Given the description of an element on the screen output the (x, y) to click on. 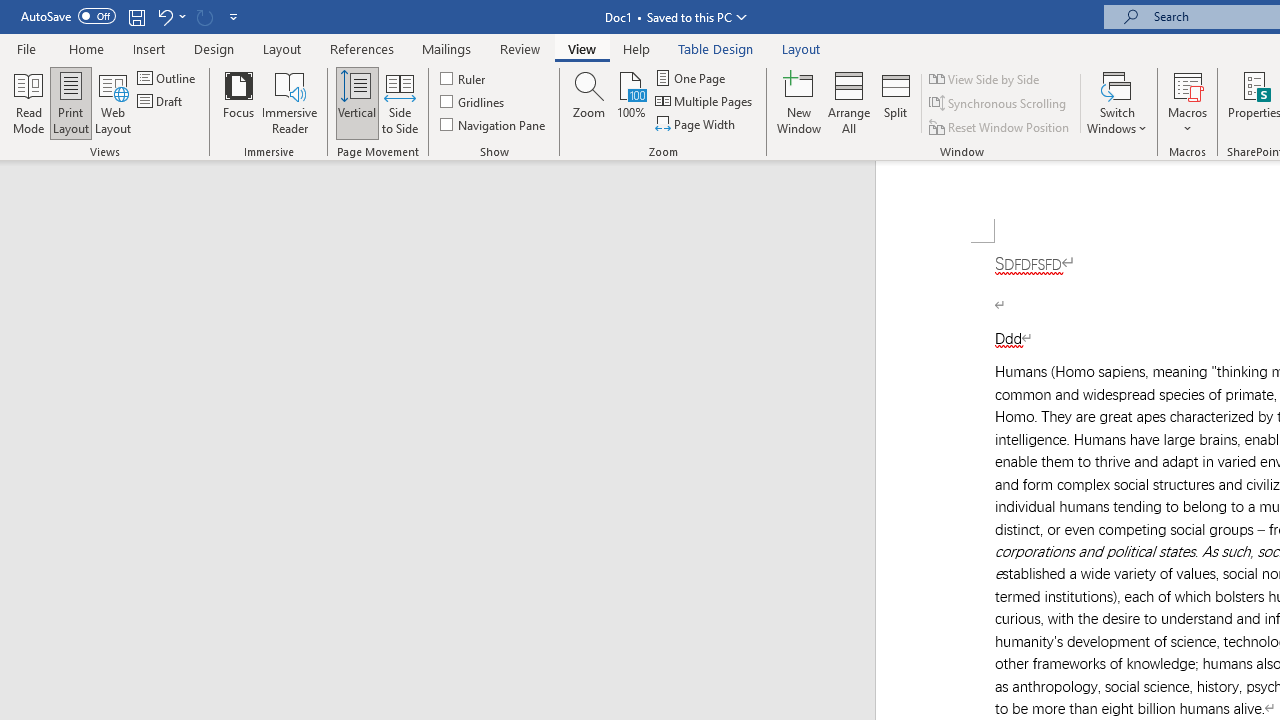
Undo Apply Quick Style Set (164, 15)
Immersive Reader (289, 102)
